Given the description of an element on the screen output the (x, y) to click on. 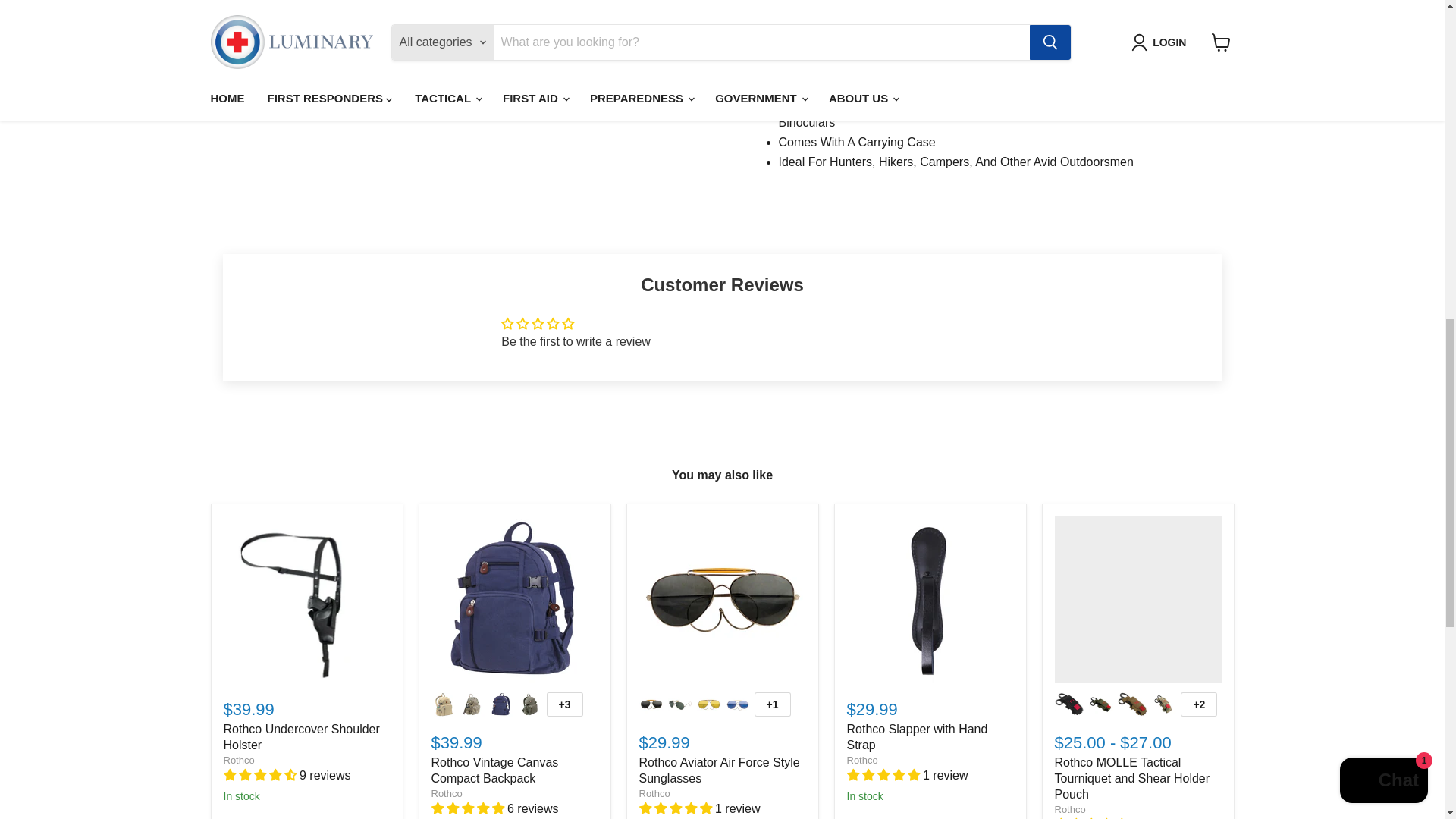
Rothco (1069, 808)
Rothco (654, 793)
Rothco (237, 759)
Rothco (861, 759)
Rothco (445, 793)
